Given the description of an element on the screen output the (x, y) to click on. 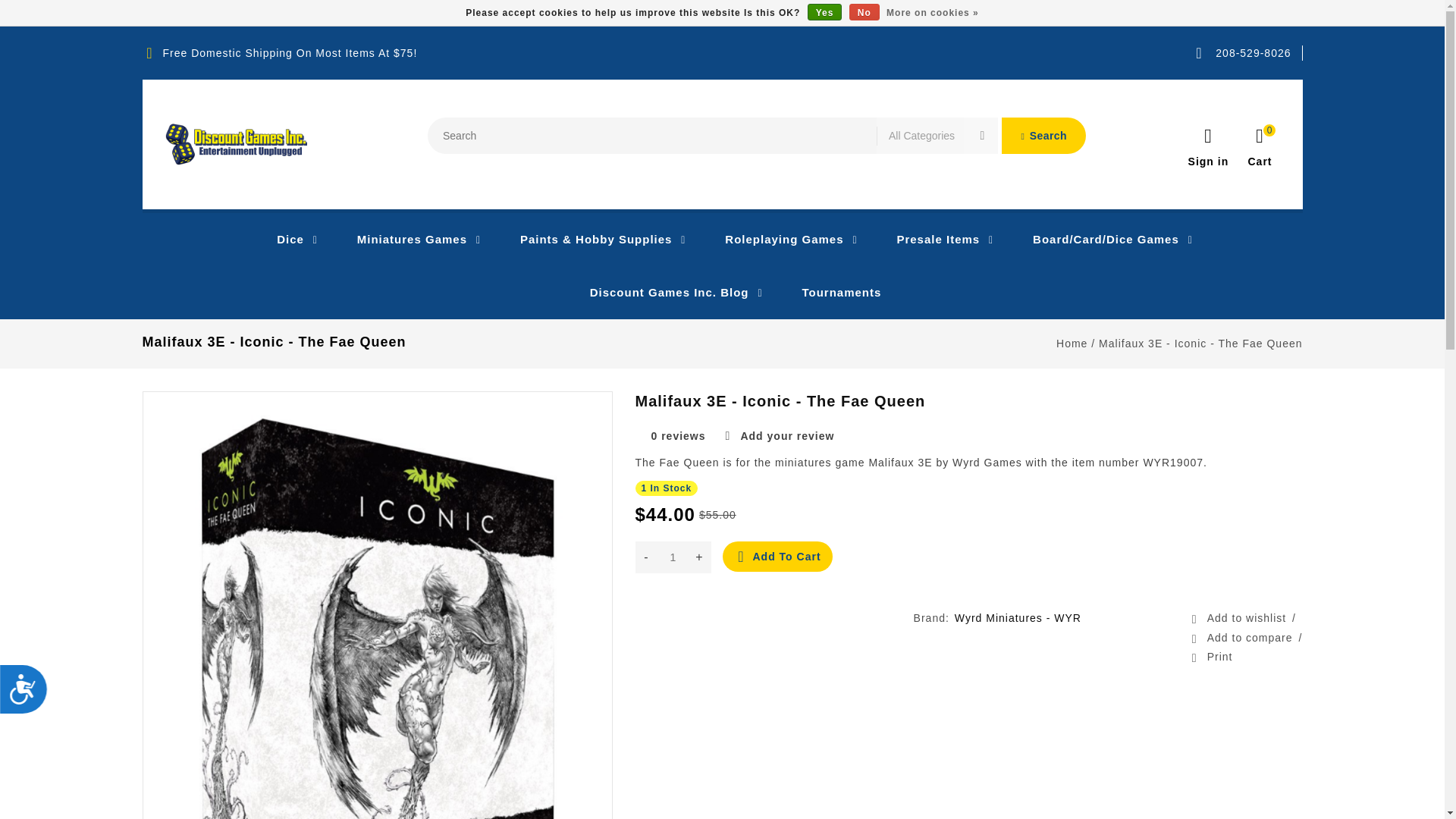
Dice (284, 239)
Search (1043, 135)
Search (1043, 135)
Dice (284, 239)
Miniatures Games (406, 239)
ACCESSIBILITY (31, 695)
1 (672, 557)
Discount Games Inc (236, 144)
